Given the description of an element on the screen output the (x, y) to click on. 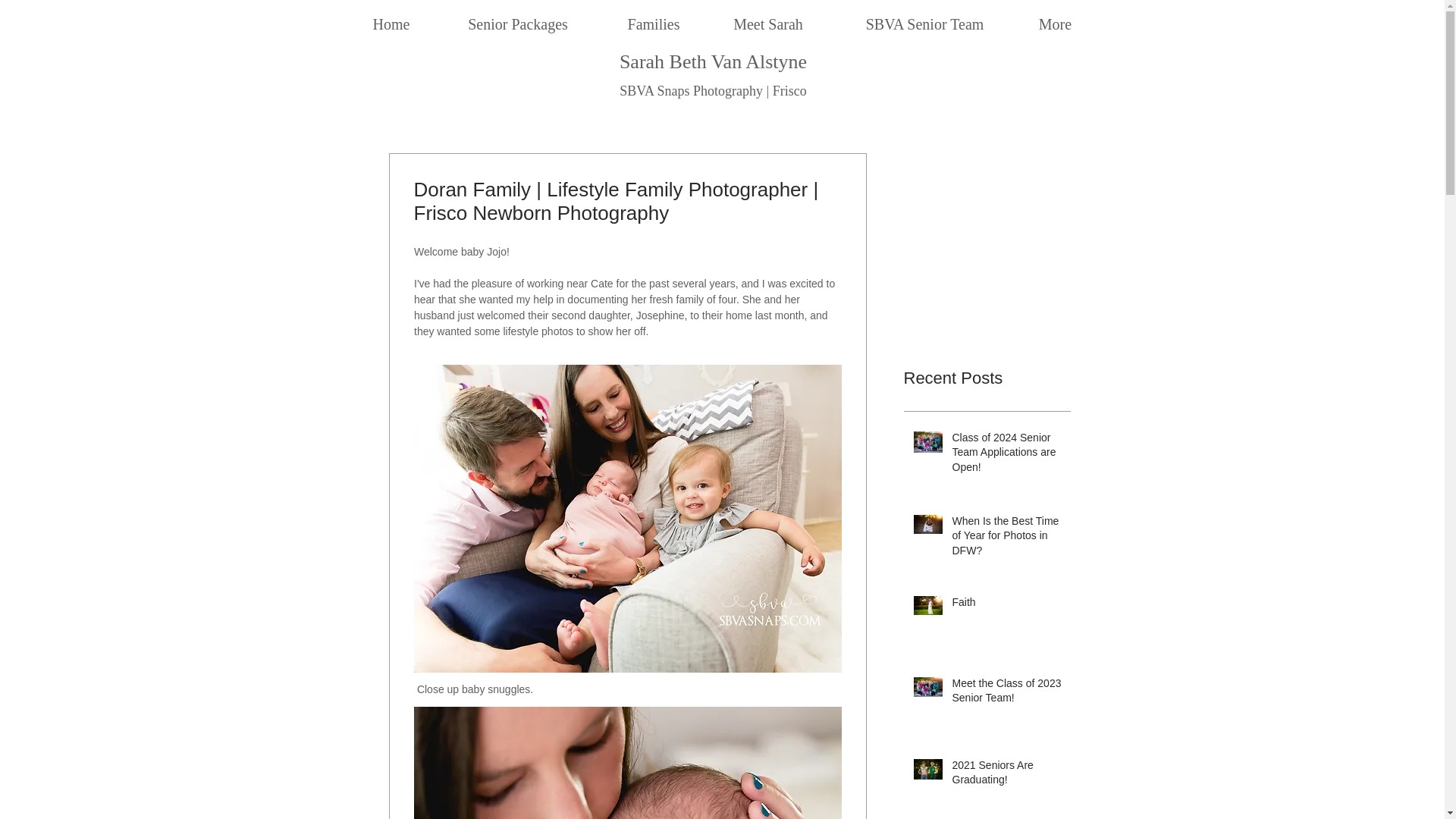
When Is the Best Time of Year for Photos in DFW? (1006, 539)
SBVA Senior Team (924, 17)
Meet the Class of 2023 Senior Team! (1006, 693)
2021 Seniors Are Graduating! (1006, 775)
Class of 2024 Senior Team Applications are Open! (1006, 455)
Meet Sarah (767, 17)
Home (390, 17)
Families (653, 17)
Faith (1006, 605)
Senior Packages (518, 17)
